Given the description of an element on the screen output the (x, y) to click on. 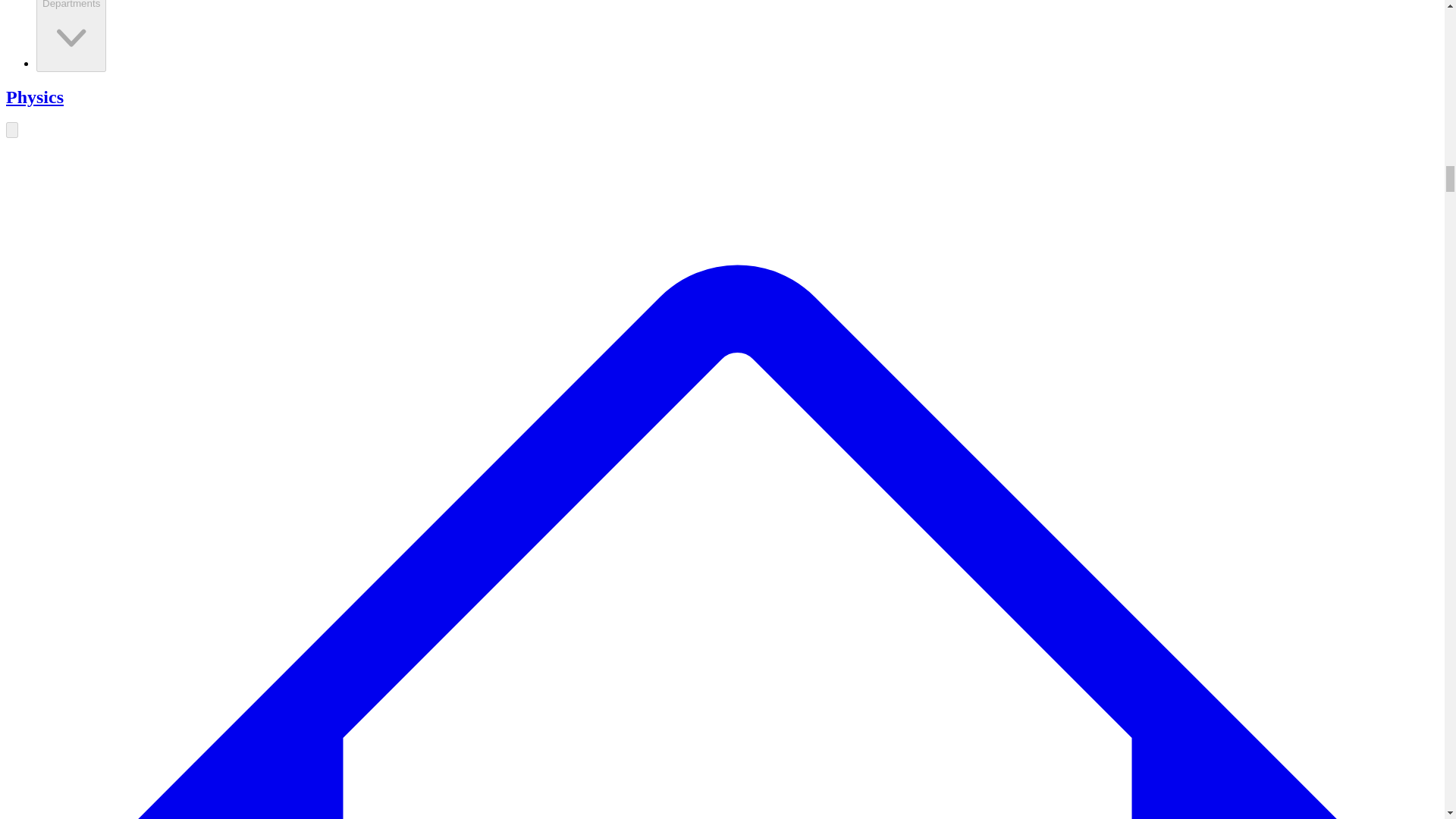
Physics (34, 96)
Departments (71, 35)
